Given the description of an element on the screen output the (x, y) to click on. 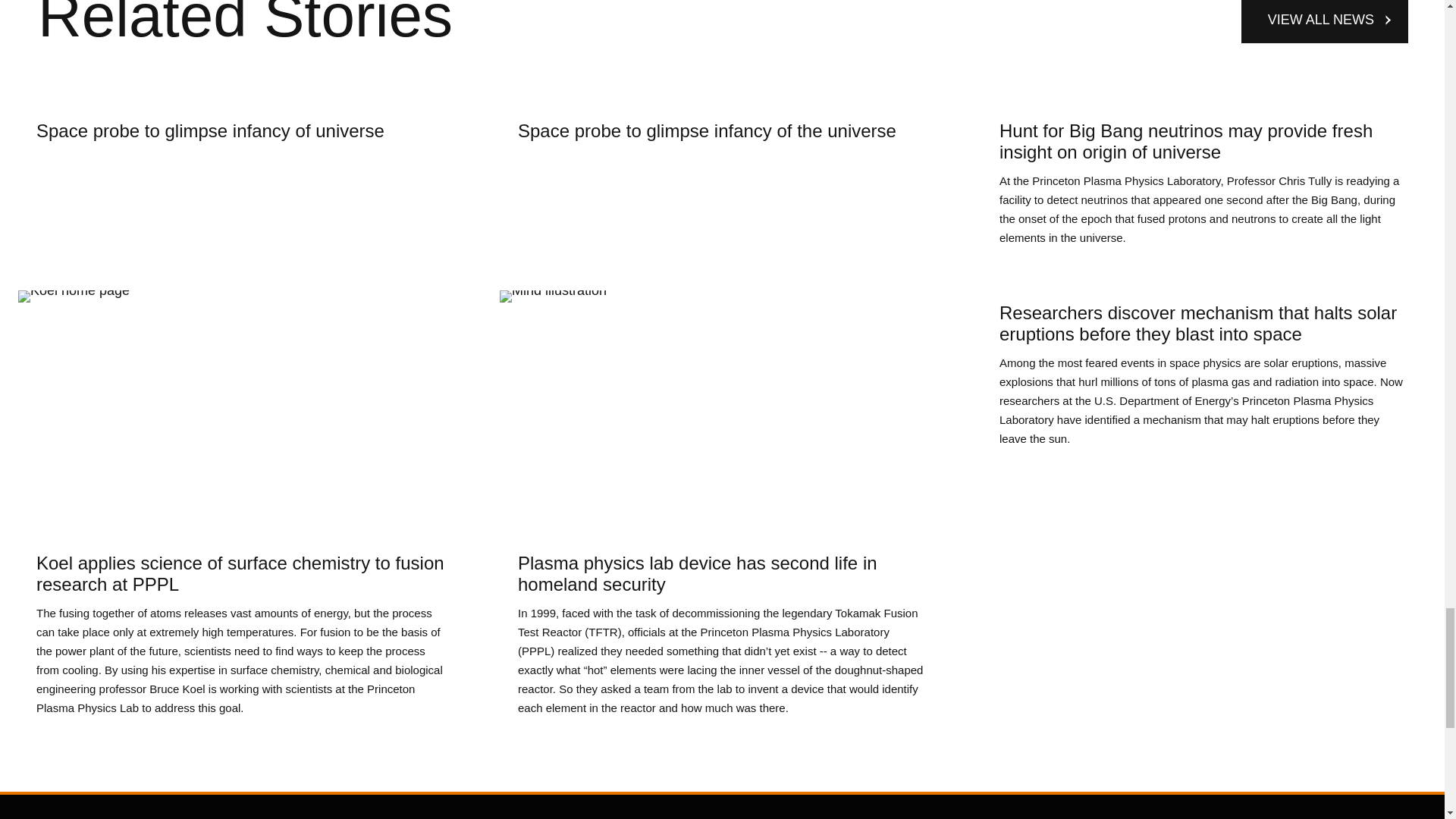
VIEW ALL NEWS (240, 175)
